Given the description of an element on the screen output the (x, y) to click on. 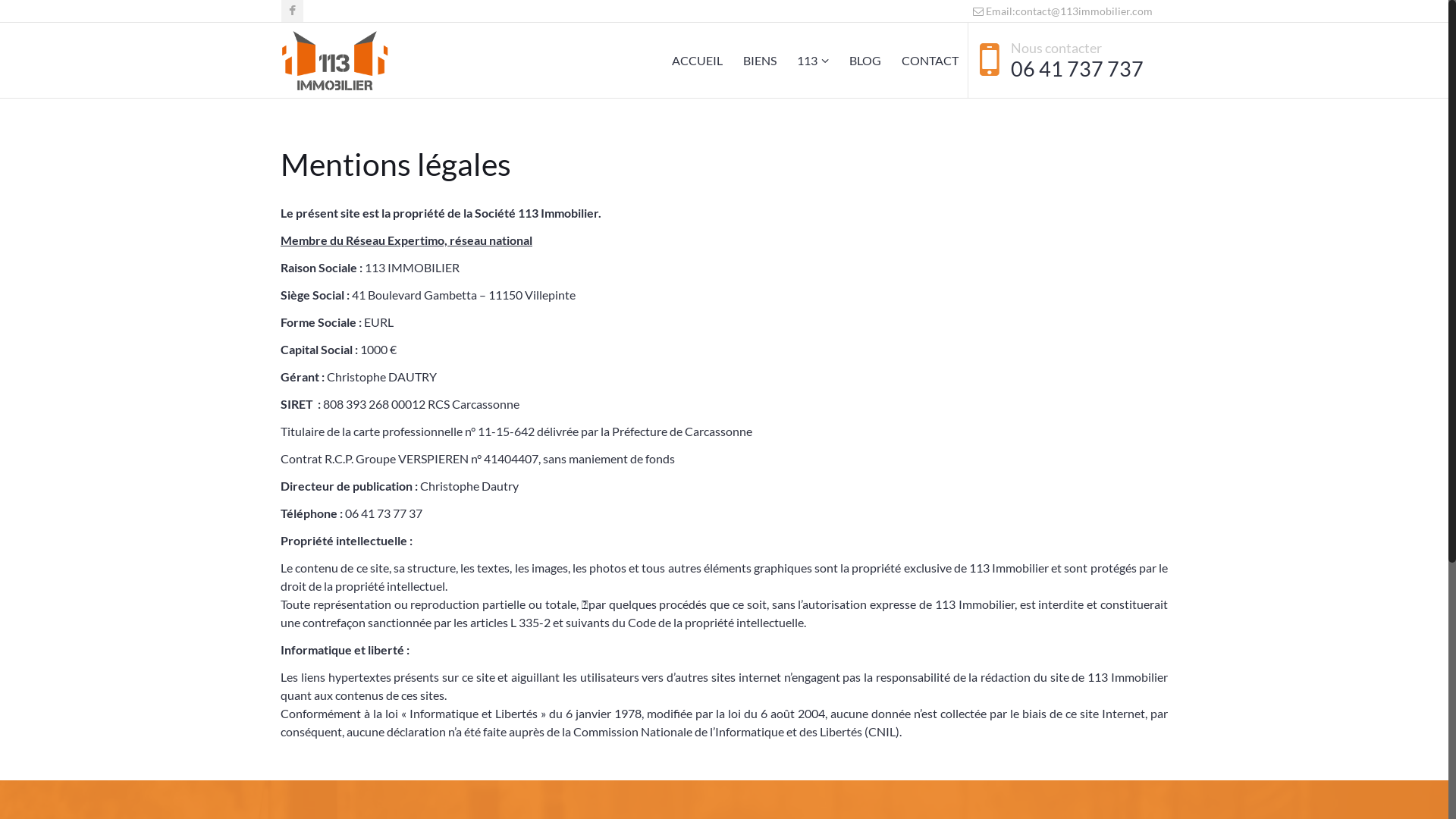
06 41 737 737 Element type: text (1076, 68)
Facebook Element type: hover (292, 10)
BLOG Element type: text (865, 60)
ACCUEIL Element type: text (696, 60)
113 Element type: text (812, 60)
 Email:contact@113immobilier.com Element type: text (1062, 10)
BIENS Element type: text (759, 60)
CONTACT Element type: text (929, 60)
